Given the description of an element on the screen output the (x, y) to click on. 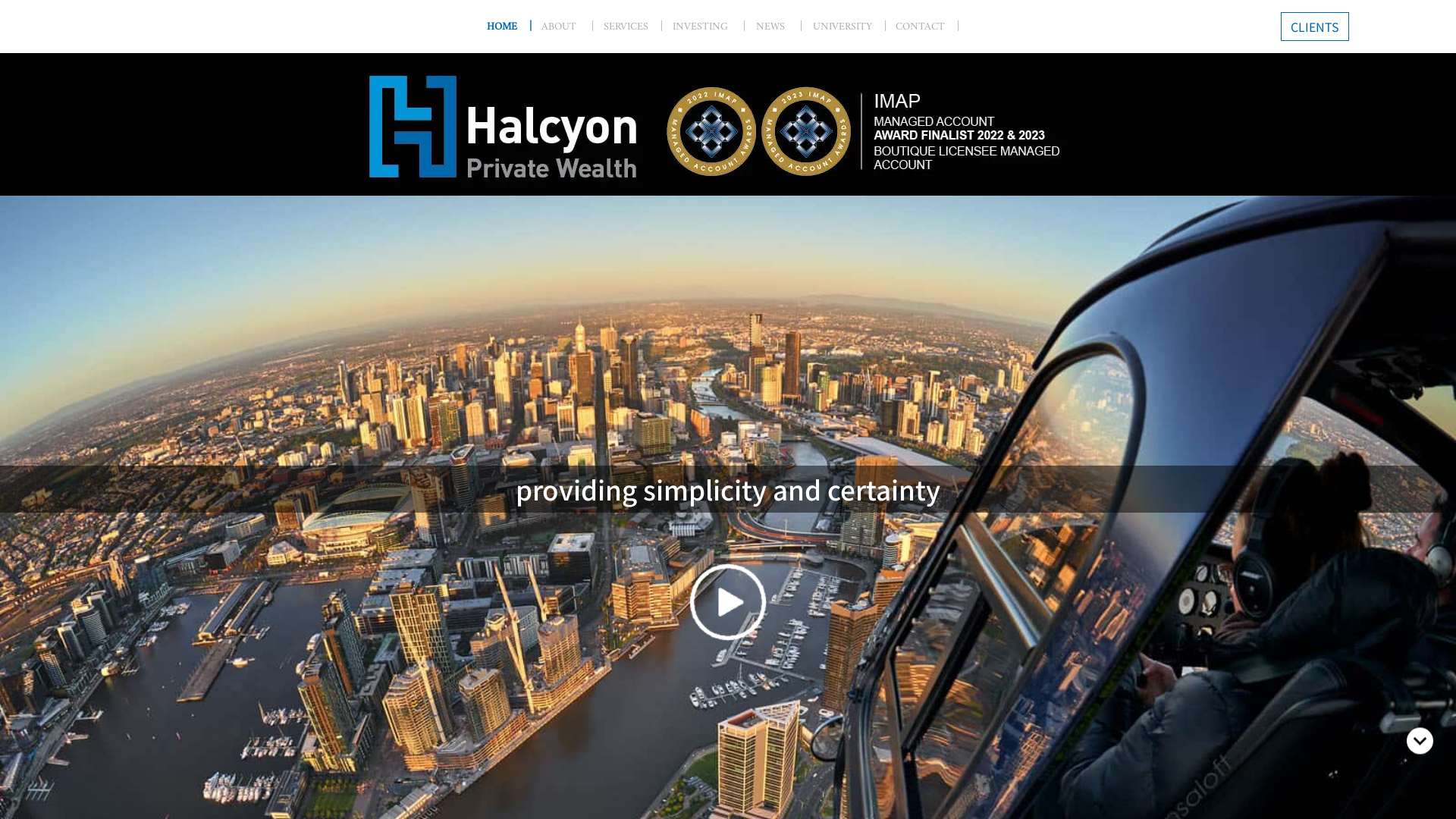
INVESTING Element type: text (714, 26)
HOME Element type: text (513, 26)
SERVICES Element type: text (637, 26)
ABOUT Element type: text (572, 26)
CONTACT Element type: text (932, 26)
NEWS Element type: text (784, 26)
UNIVERSITY Element type: text (854, 26)
expand_more Element type: text (1419, 746)
CLIENTS Element type: text (1314, 26)
